Given the description of an element on the screen output the (x, y) to click on. 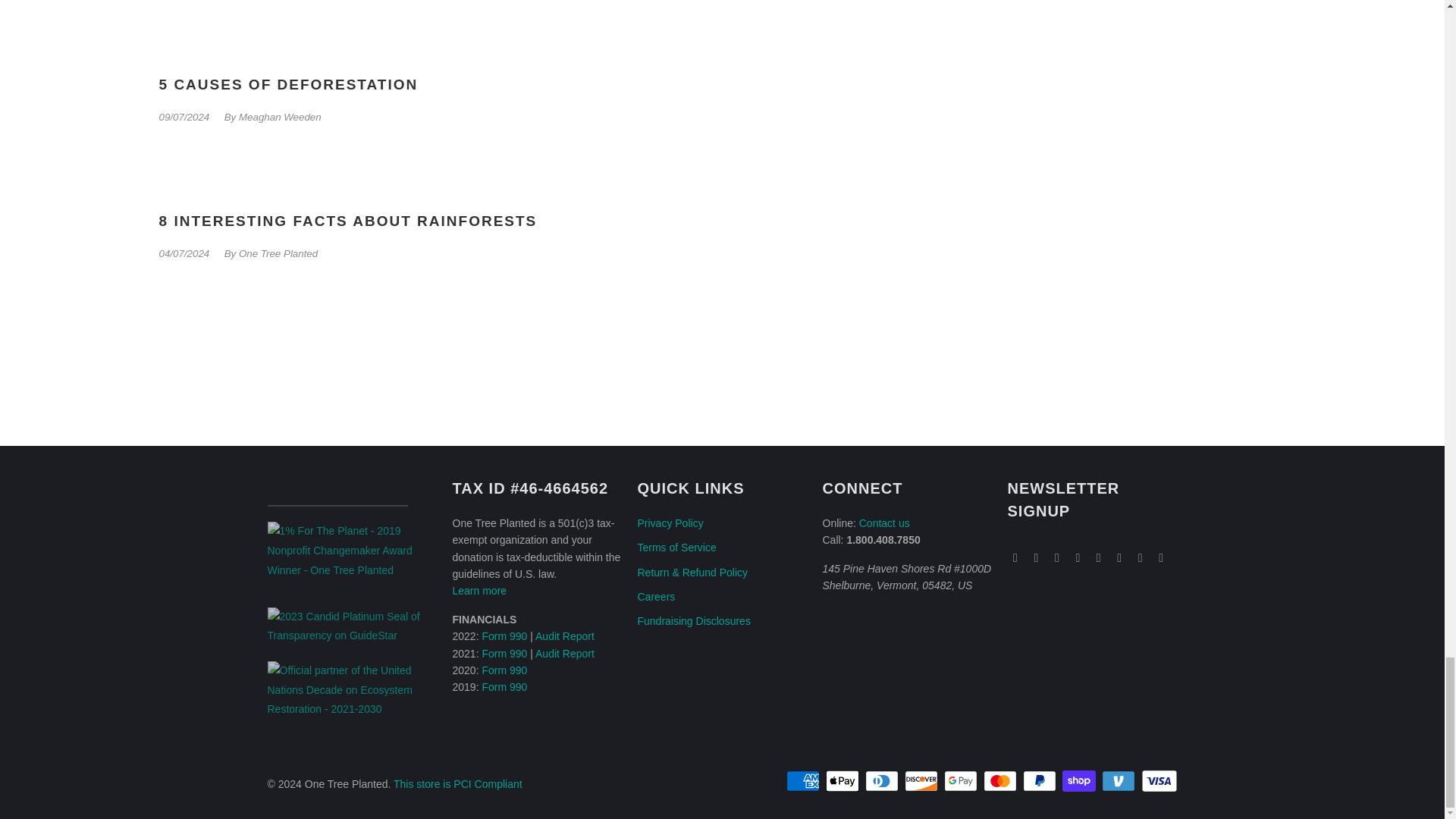
Apple Pay (843, 780)
Visa (1158, 780)
Google Pay (961, 780)
PayPal (1041, 780)
American Express (804, 780)
Shop Pay (1080, 780)
Venmo (1120, 780)
Discover (922, 780)
Mastercard (1002, 780)
Diners Club (882, 780)
